Given the description of an element on the screen output the (x, y) to click on. 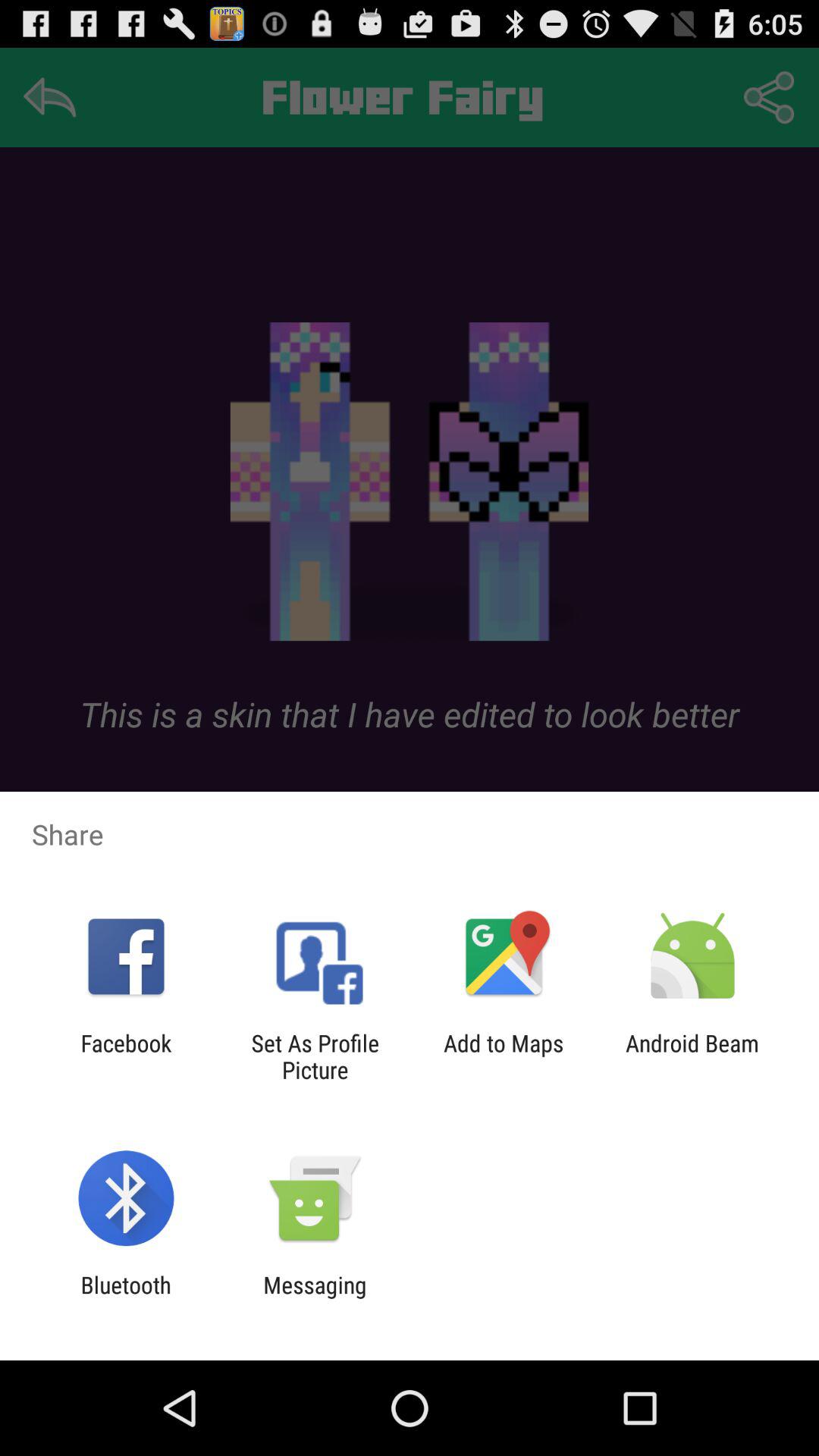
click the messaging icon (314, 1298)
